Given the description of an element on the screen output the (x, y) to click on. 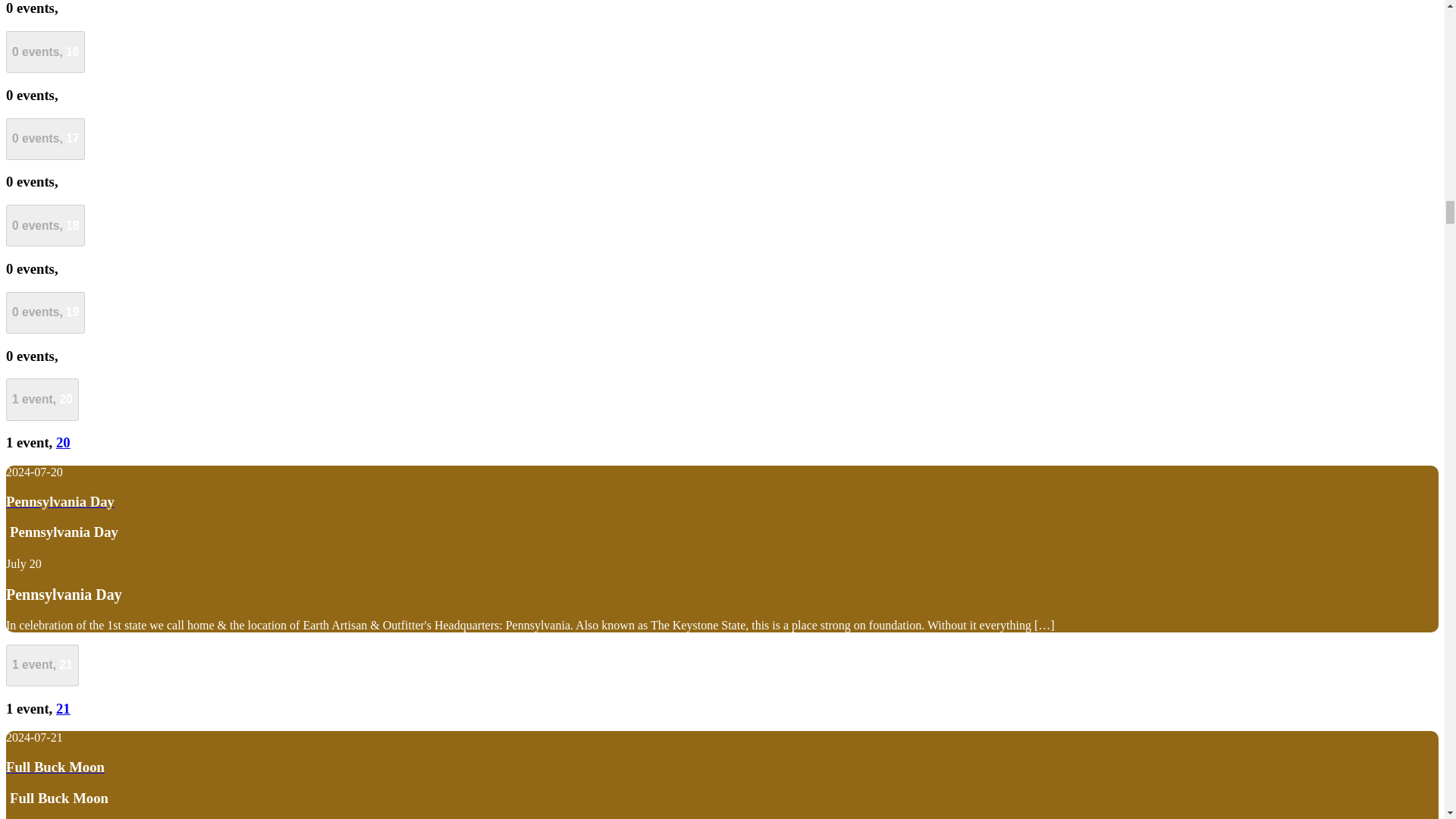
Pennsylvania Day (63, 594)
